Given the description of an element on the screen output the (x, y) to click on. 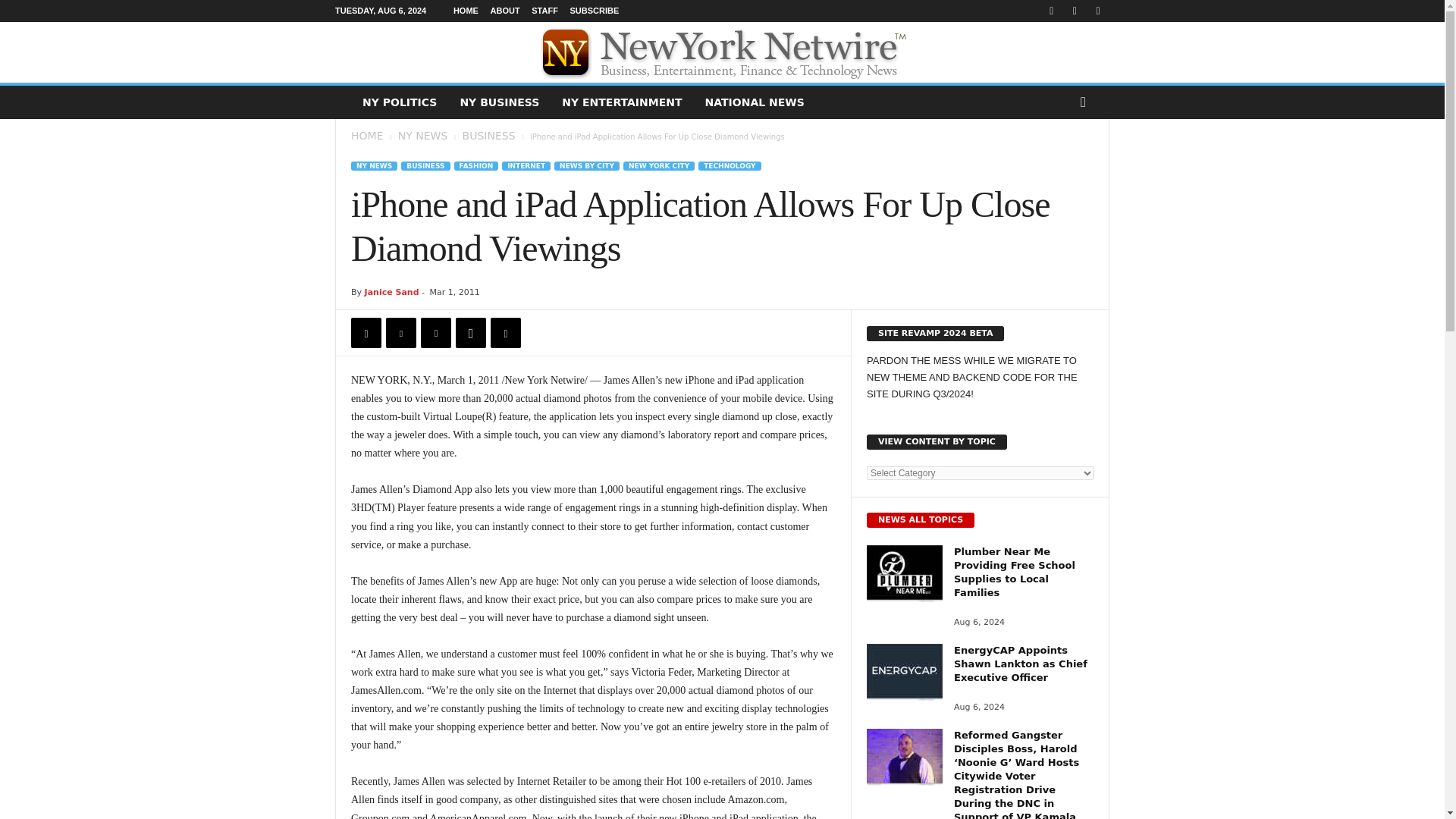
HOME (465, 10)
SUBSCRIBE (593, 10)
Janice Sand (392, 292)
View all posts in Business (489, 135)
Twitter (400, 332)
BUSINESS (489, 135)
STAFF (544, 10)
Facebook (365, 332)
NY ENTERTAINMENT (621, 101)
FASHION (476, 165)
Linkedin (505, 332)
NY POLITICS (399, 101)
NATIONAL NEWS (754, 101)
HOME (366, 135)
NEWS BY CITY (587, 165)
